Given the description of an element on the screen output the (x, y) to click on. 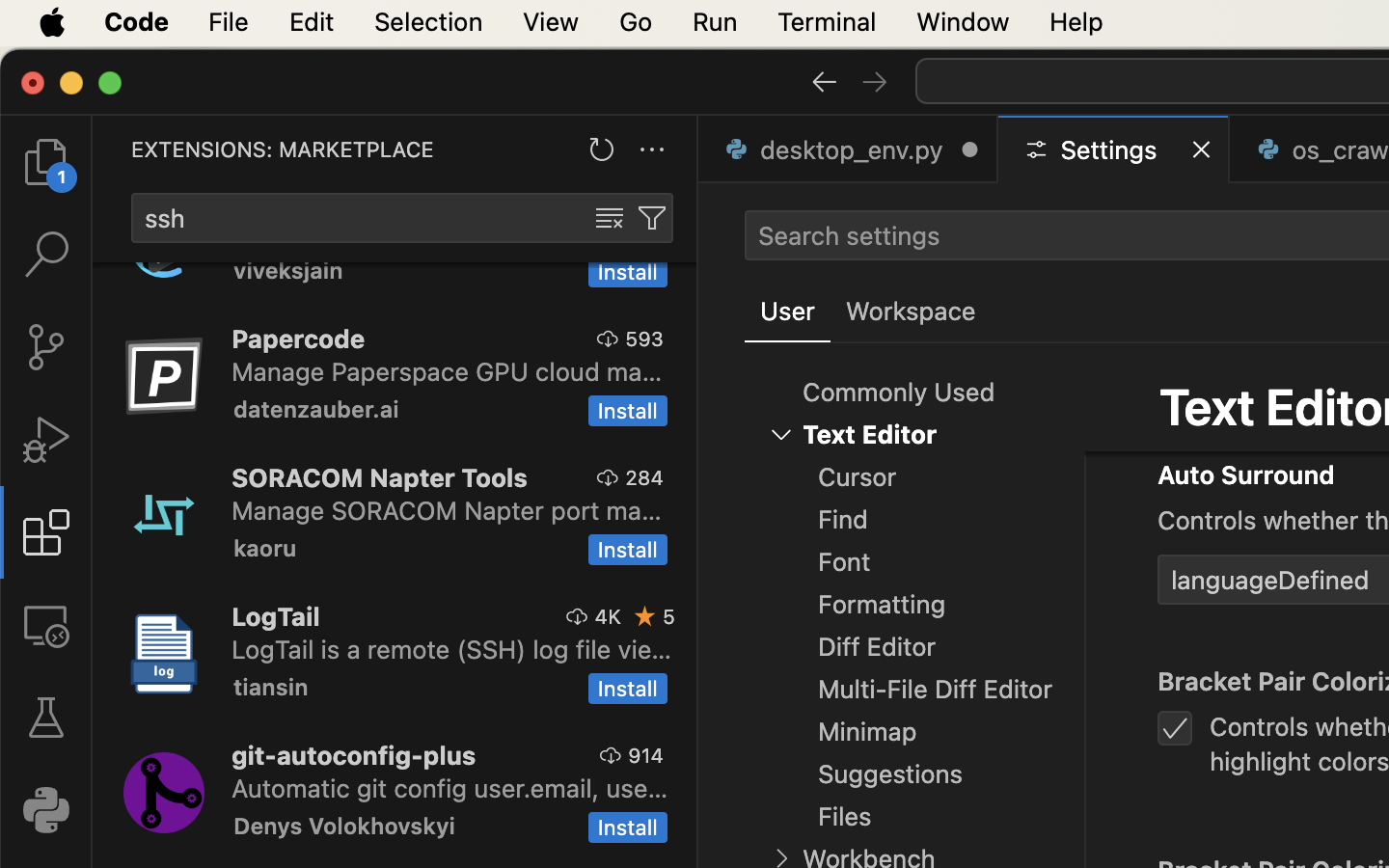
 Element type: AXGroup (46, 439)
datenzauber.ai Element type: AXStaticText (316, 408)
 Element type: AXStaticText (608, 338)
 Element type: AXStaticText (651, 217)
tiansin Element type: AXStaticText (270, 686)
